Given the description of an element on the screen output the (x, y) to click on. 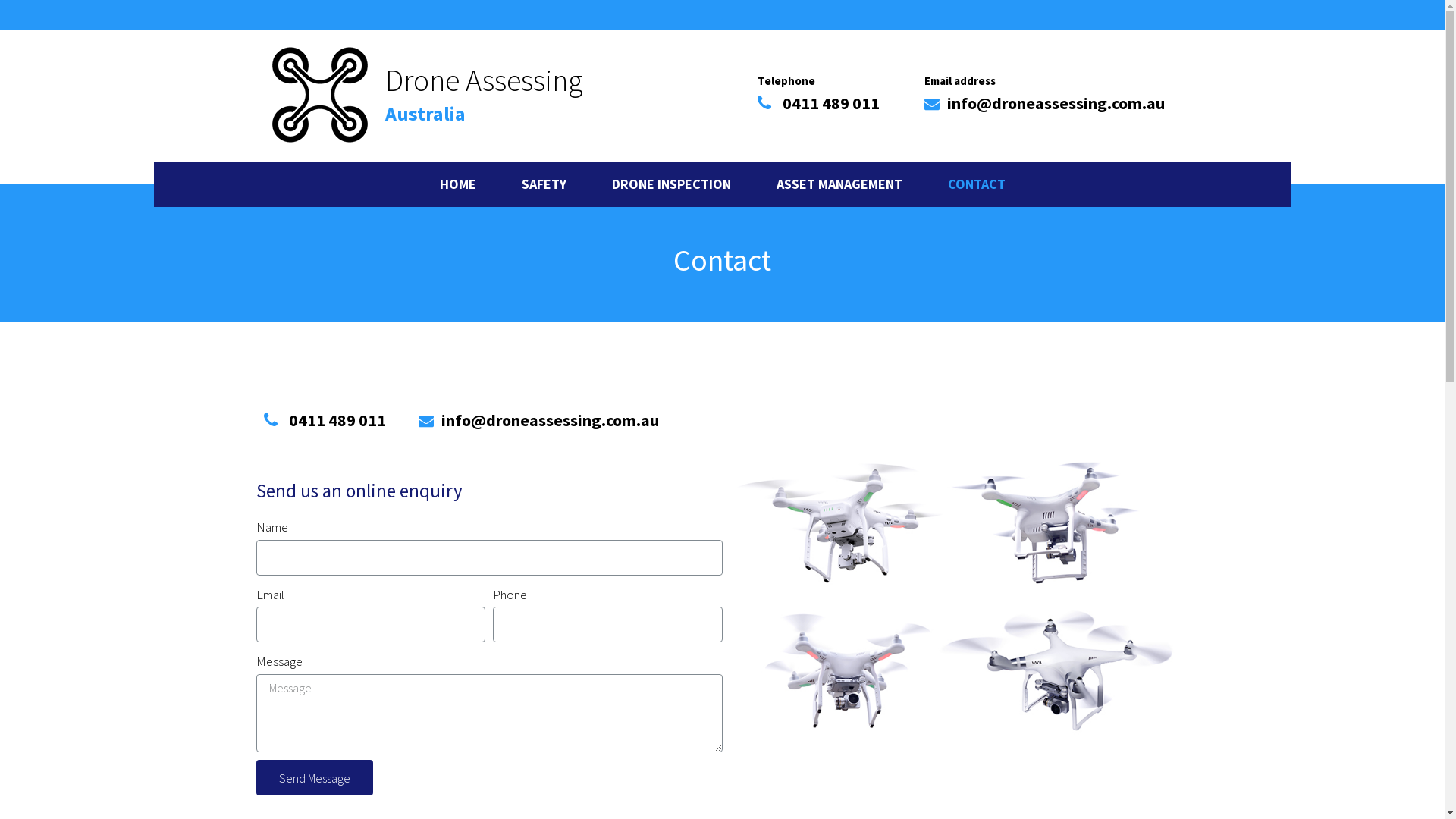
SAFETY Element type: text (543, 184)
Drone Assessing Element type: text (484, 79)
ASSET MANAGEMENT Element type: text (839, 184)
CONTACT Element type: text (976, 184)
Send Message Element type: text (314, 777)
DRONE INSPECTION Element type: text (670, 184)
HOME Element type: text (457, 184)
